Given the description of an element on the screen output the (x, y) to click on. 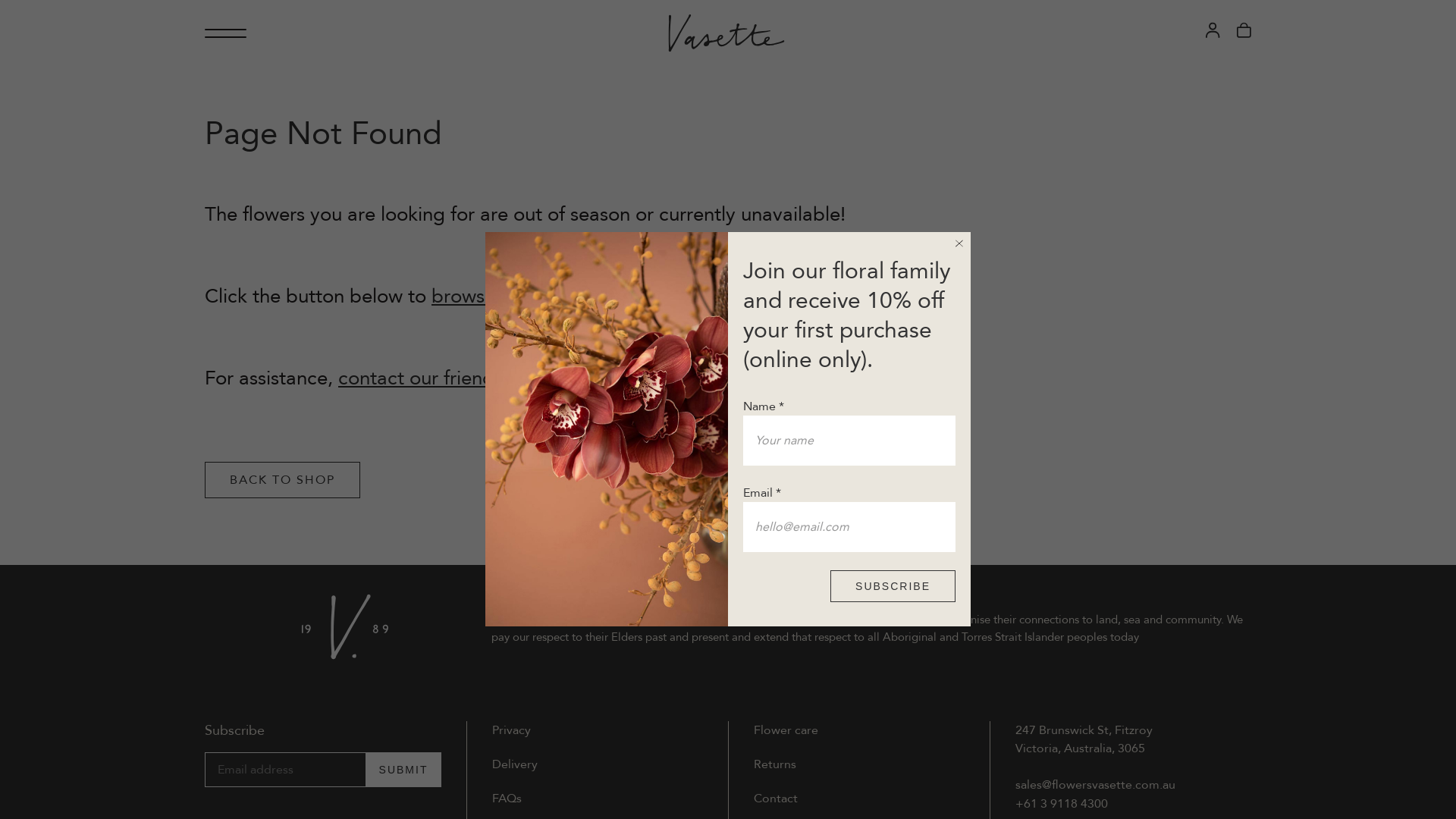
sales@flowersvasette.com.au Element type: text (1095, 784)
Back to home Element type: hover (726, 32)
Contact Element type: text (775, 798)
Returns Element type: text (774, 764)
FAQs Element type: text (506, 798)
Submit Element type: text (403, 769)
Subscribe Element type: text (892, 586)
Flower care Element type: text (785, 730)
Delivery Element type: text (514, 764)
contact our friendly team Element type: text (448, 378)
Privacy Element type: text (511, 730)
browse the beautiful blooms Element type: text (555, 296)
+61 3 9118 4300 Element type: text (1061, 803)
BACK TO SHOP Element type: text (282, 479)
